Given the description of an element on the screen output the (x, y) to click on. 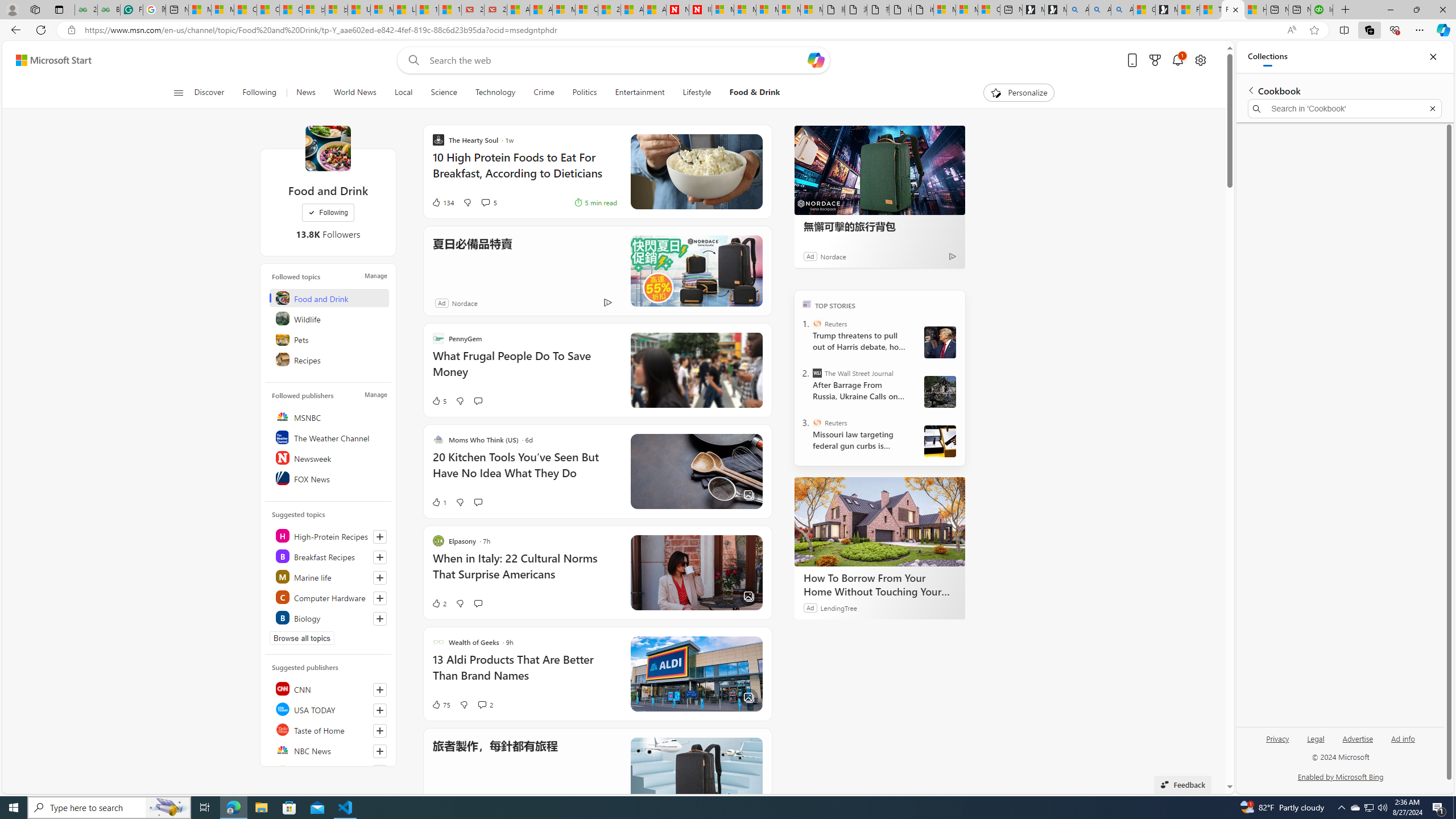
21 Movies That Outdid the Books They Were Based On (495, 9)
Legal (1315, 738)
Split screen (1344, 29)
Microsoft Services Agreement (745, 9)
Ad Choice (606, 302)
25 Basic Linux Commands For Beginners - GeeksforGeeks (85, 9)
Politics (584, 92)
Web search (411, 60)
Follow this topic (379, 618)
Restore (1416, 9)
View comments 5 Comment (485, 202)
